Given the description of an element on the screen output the (x, y) to click on. 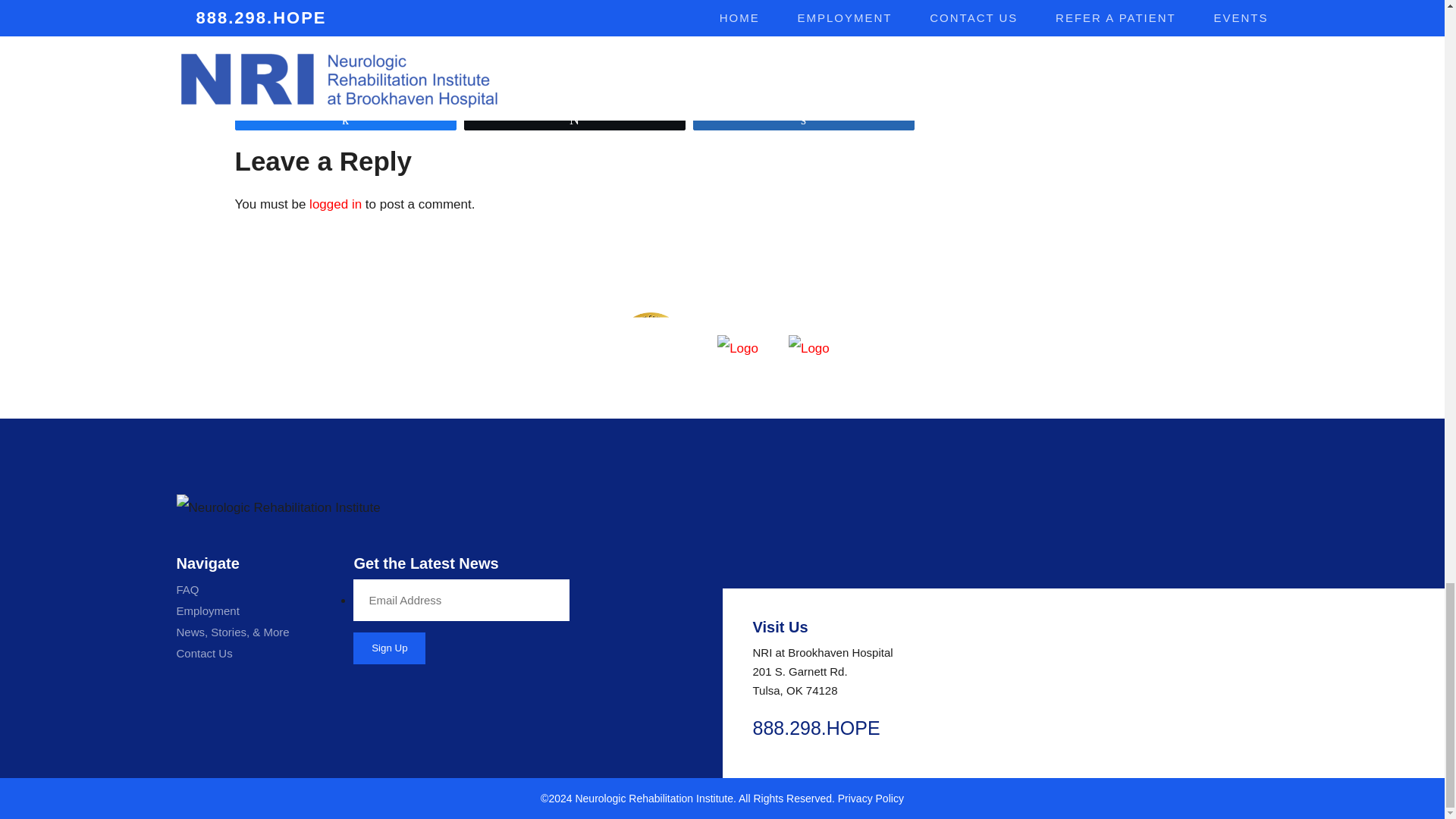
Sign Up (389, 648)
